Given the description of an element on the screen output the (x, y) to click on. 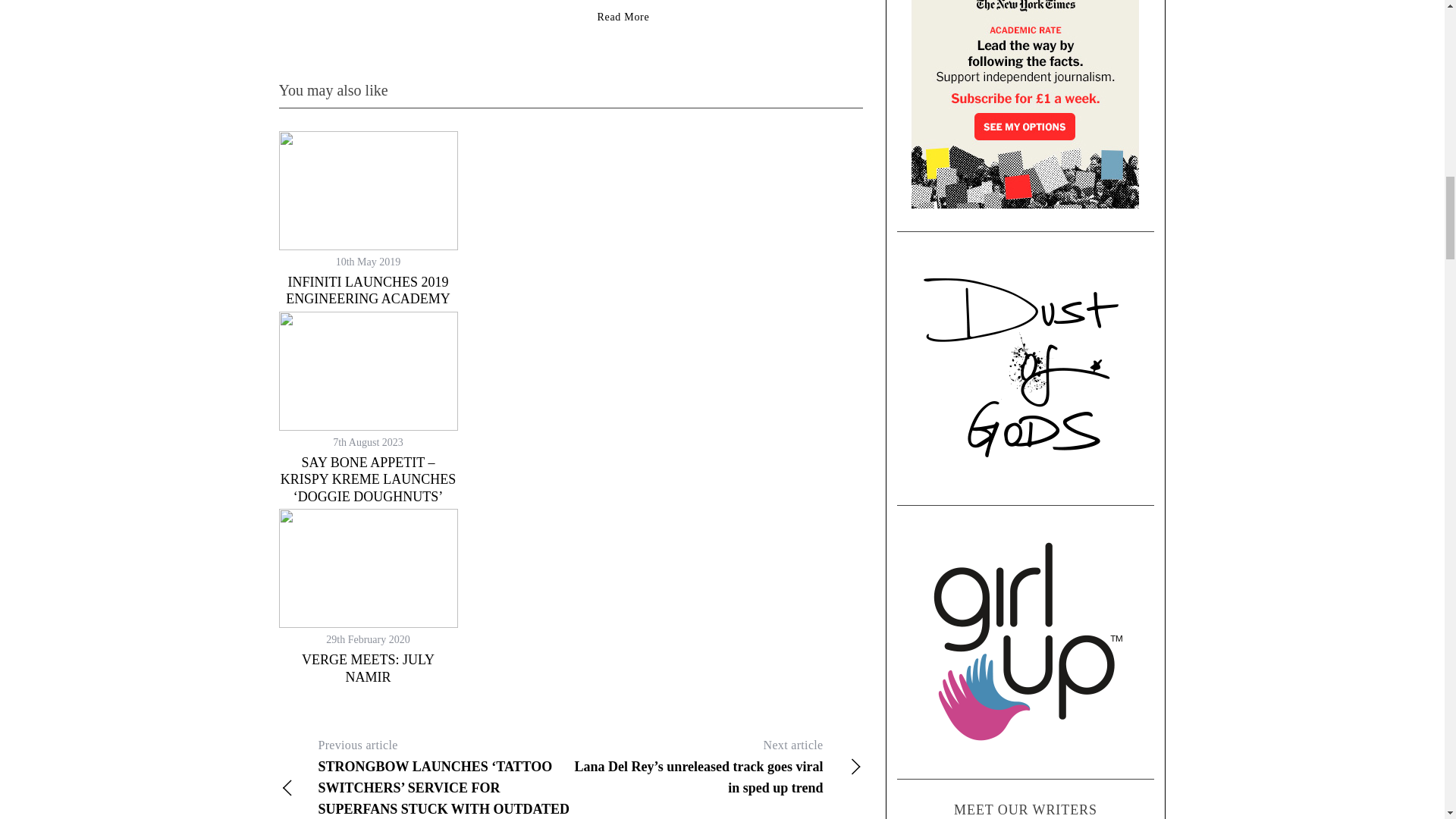
Read More (622, 17)
VERGE MEETS: JULY NAMIR (367, 667)
INFINITI LAUNCHES 2019 ENGINEERING ACADEMY (367, 290)
